Given the description of an element on the screen output the (x, y) to click on. 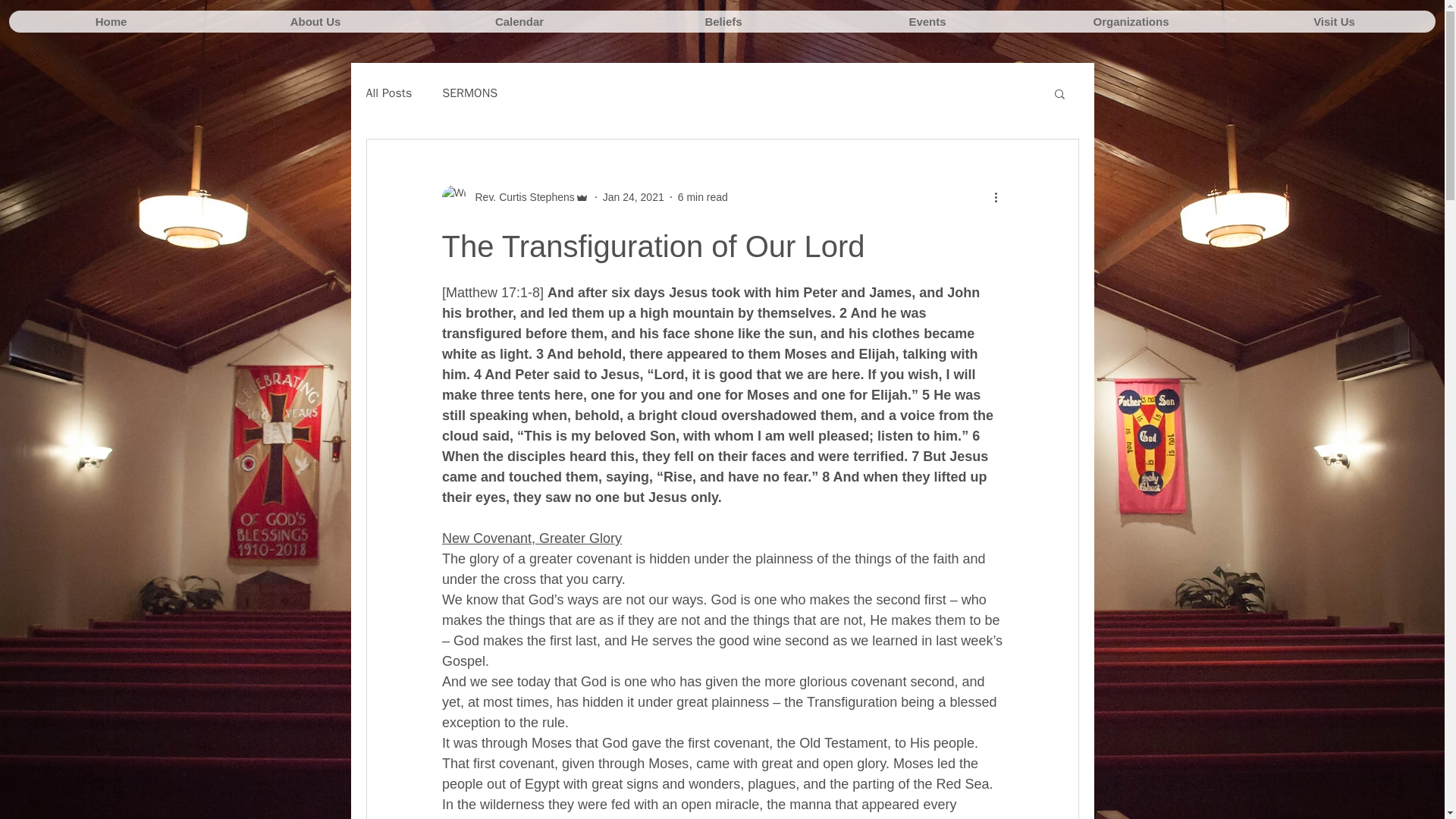
Calendar (518, 21)
Rev. Curtis Stephens (519, 197)
All Posts (388, 92)
Visit Us (1333, 21)
Organizations (1130, 21)
SERMONS (469, 92)
About Us (314, 21)
Home (110, 21)
Rev. Curtis Stephens (514, 197)
Events (927, 21)
Jan 24, 2021 (632, 196)
Beliefs (723, 21)
6 min read (703, 196)
Log In (1040, 70)
